Given the description of an element on the screen output the (x, y) to click on. 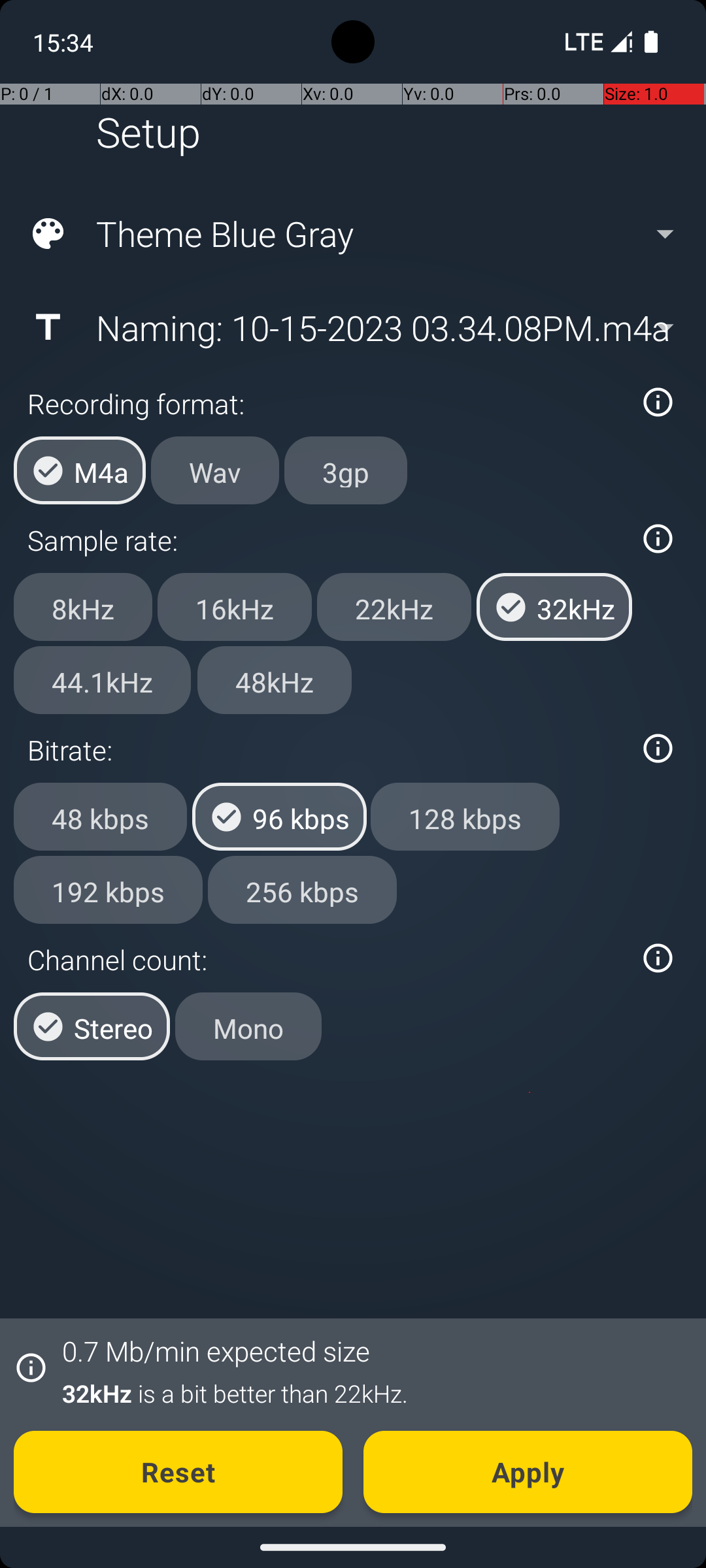
0.7 Mb/min expected size Element type: android.widget.TextView (215, 1350)
32kHz is a bit better than 22kHz. Element type: android.widget.TextView (370, 1392)
Naming: 10-15-2023 03.34.08PM.m4a Element type: android.widget.TextView (352, 327)
